Given the description of an element on the screen output the (x, y) to click on. 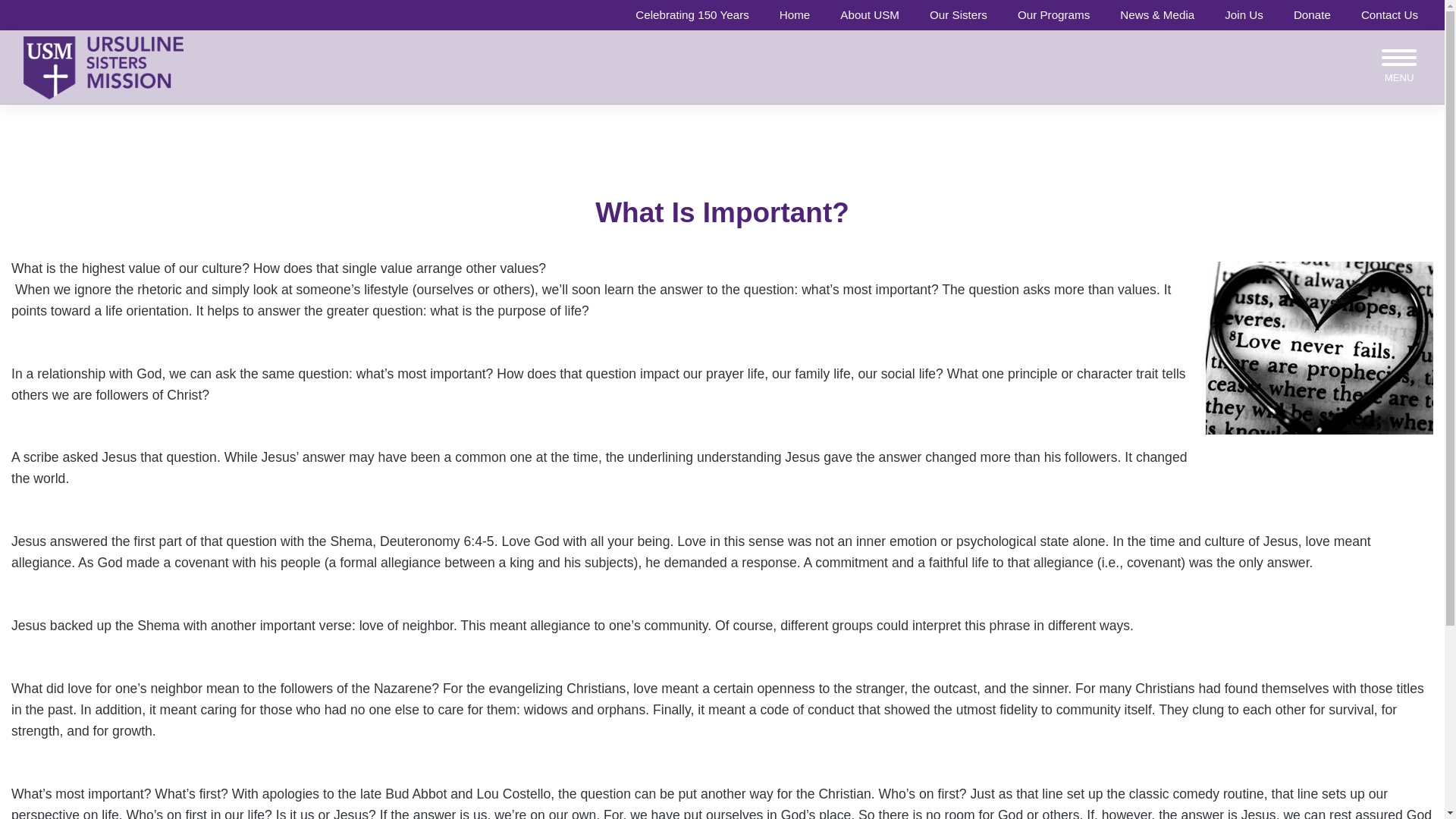
Contact Us (1389, 15)
Celebrating 150 Years (691, 15)
Our Sisters (958, 15)
Home (794, 15)
love11 (1318, 347)
About USM (869, 15)
Join Us (1243, 15)
Our Programs (1053, 15)
Donate (1311, 15)
